Given the description of an element on the screen output the (x, y) to click on. 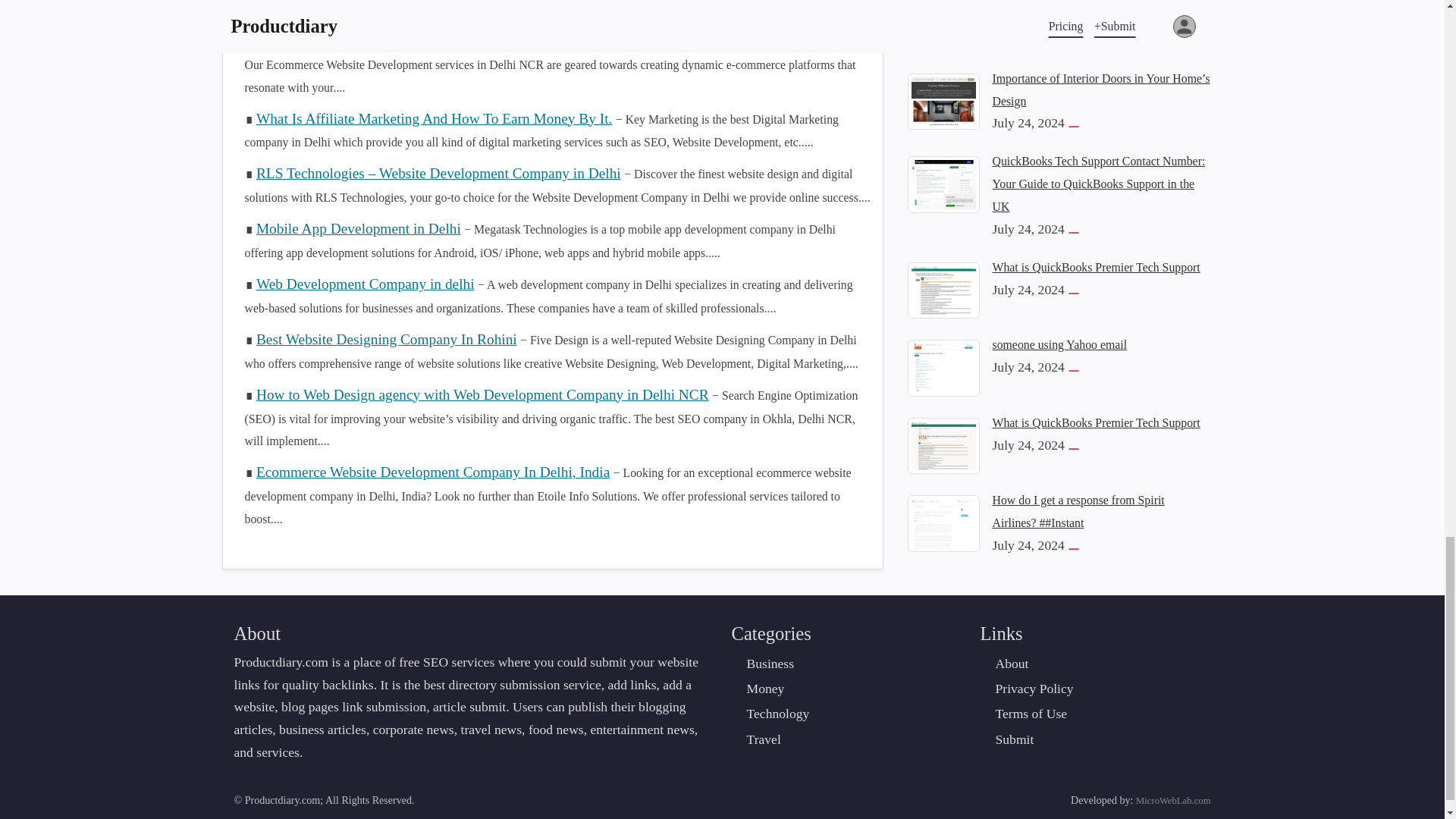
Mobile App Development in Delhi (358, 228)
Web Development Company in delhi (365, 283)
Ecommerce Website Development Company In Delhi, India (433, 471)
Best Website Designing Company In Rohini (386, 339)
What Is Affiliate Marketing And How To Earn Money By It. (433, 118)
